Given the description of an element on the screen output the (x, y) to click on. 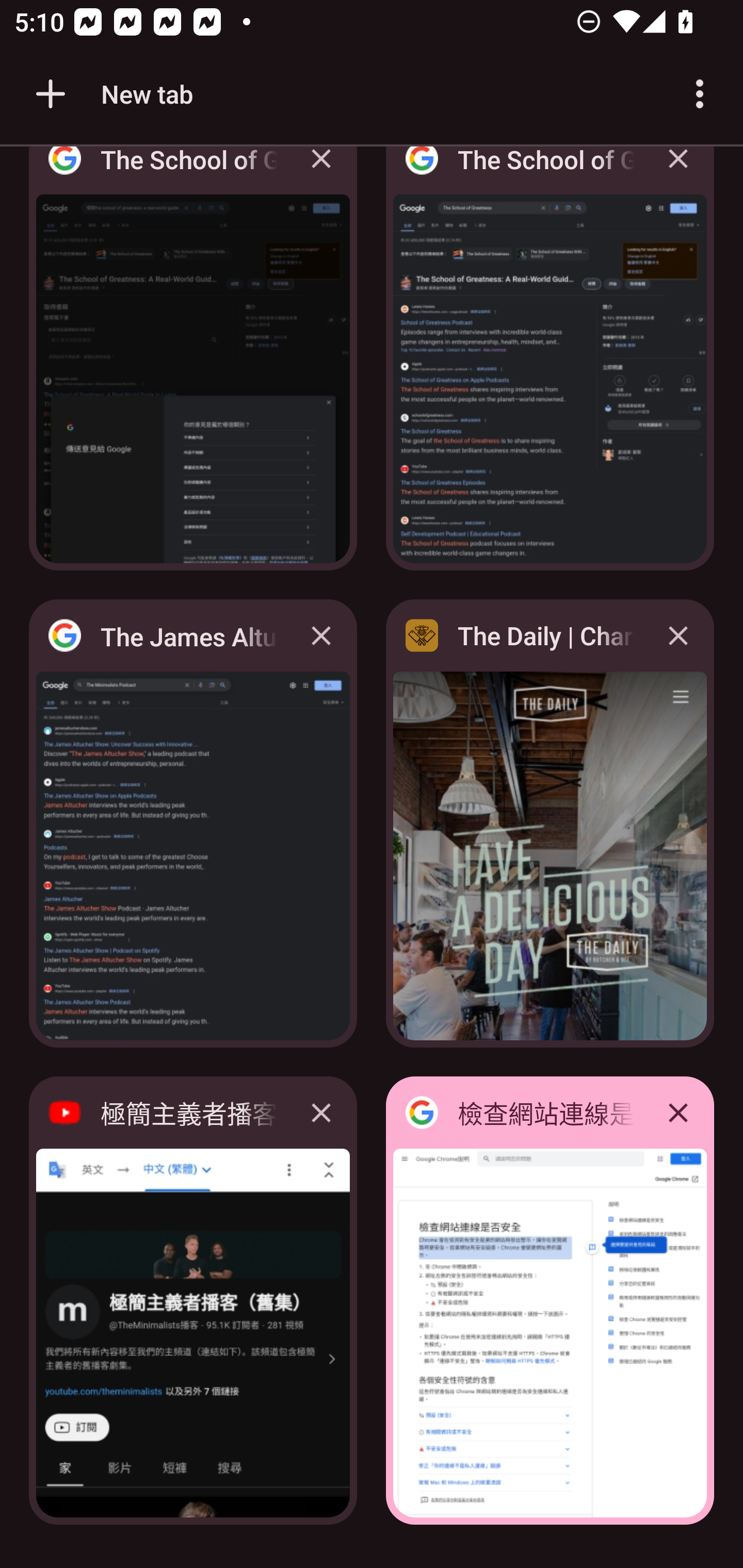
New tab (111, 93)
Customize and control Google Chrome (699, 93)
Close The School of Greatness - Google 搜尋 tab (320, 173)
Close The School of Greatness - Google 搜尋 tab (677, 173)
Close The James Altucher Show - Google 搜尋 tab (320, 635)
Close The Daily | Charleston & Atlanta tab (677, 635)
Close 極簡主義者播客（舊劇集）- YouTube tab (320, 1112)
Close 檢查網站連線是否安全 - Google Chrome說明 tab (677, 1112)
